Given the description of an element on the screen output the (x, y) to click on. 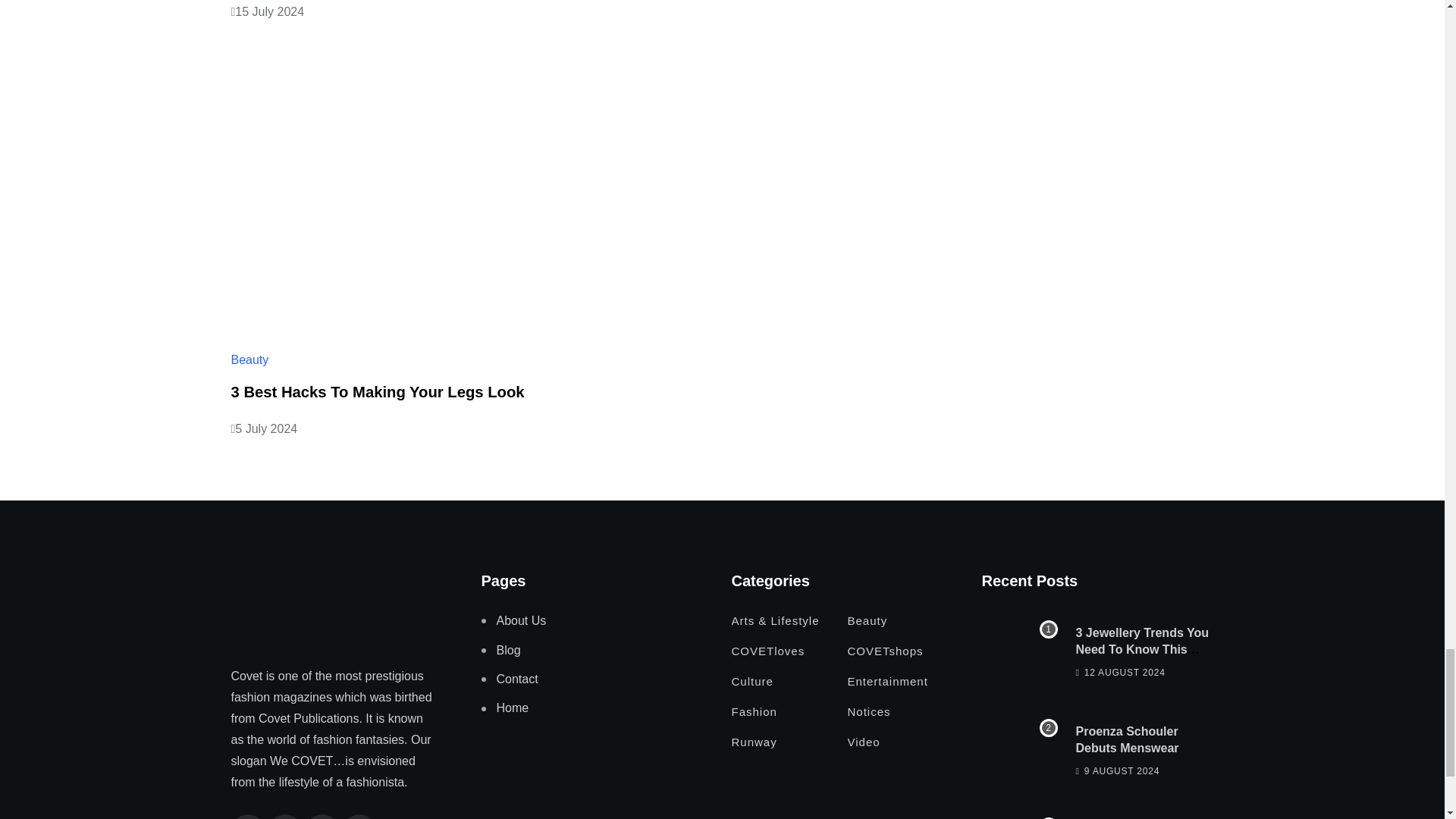
3 Hair Styling Hack For An Effortless Beach Hair (1019, 814)
3 Jewellery Trends You Need To Know This 2024 (1019, 650)
Proenza Schouler Debuts Menswear (1019, 749)
